Given the description of an element on the screen output the (x, y) to click on. 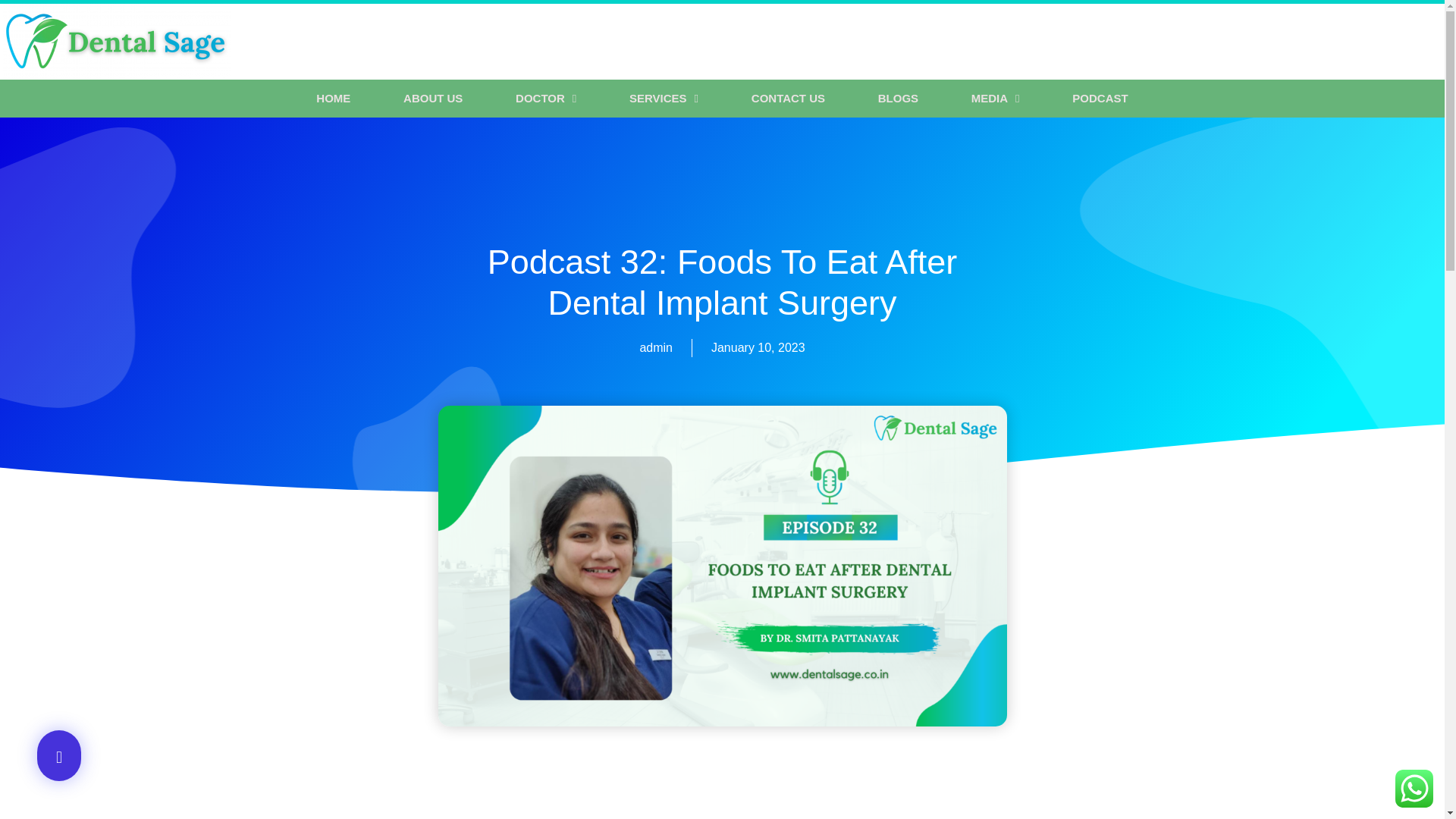
SERVICES (663, 98)
HOME (333, 98)
ABOUT US (433, 98)
DOCTOR (545, 98)
Dental Sage Logo (116, 41)
